Given the description of an element on the screen output the (x, y) to click on. 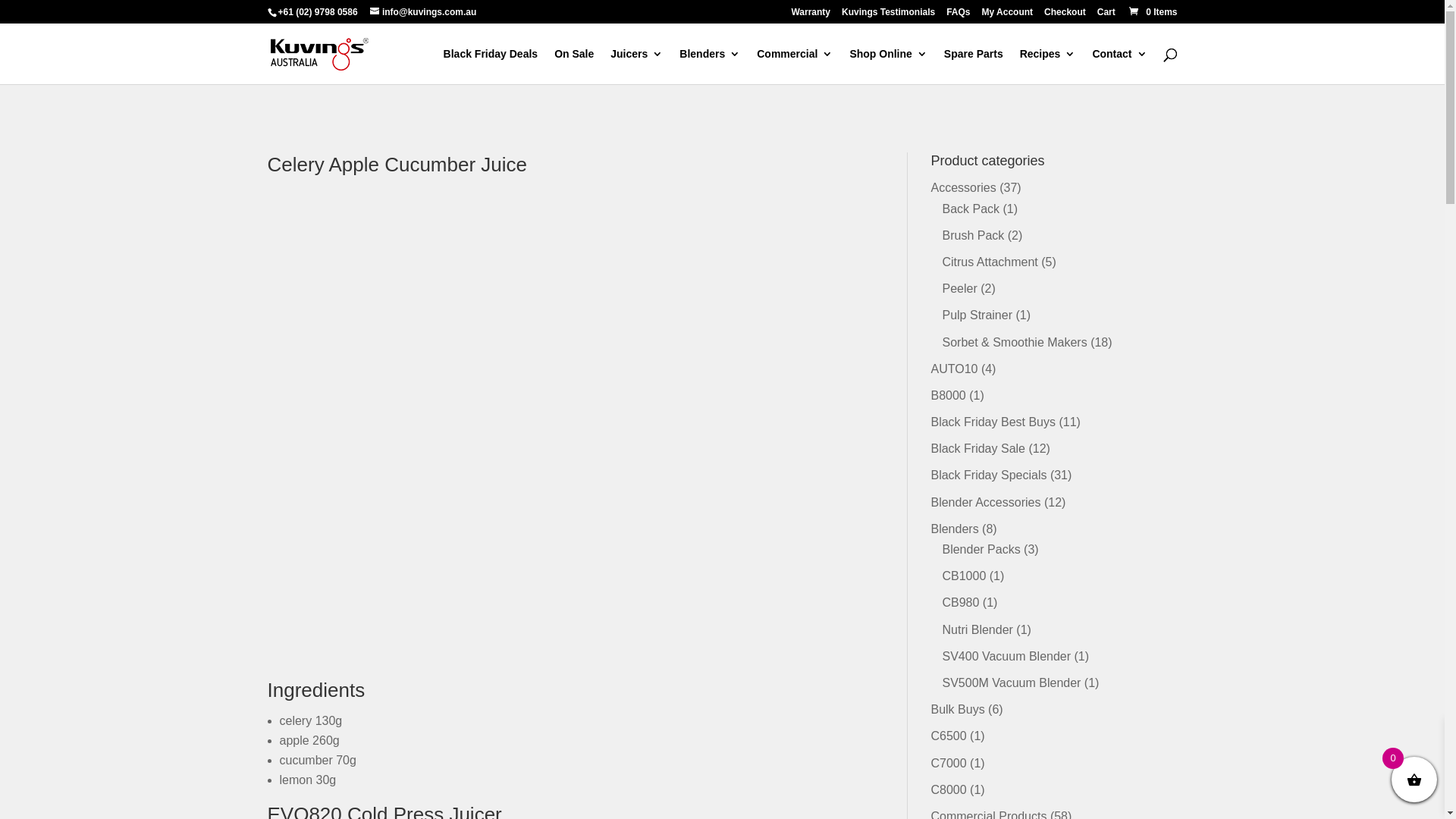
CB1000 Element type: text (963, 575)
Pulp Strainer Element type: text (976, 314)
Peeler Element type: text (958, 288)
Nutri Blender Element type: text (976, 629)
Kuvings Testimonials Element type: text (888, 15)
Cart Element type: text (1106, 15)
SV400 Vacuum Blender Element type: text (1005, 655)
C6500 Element type: text (948, 735)
B8000 Element type: text (947, 395)
Checkout Element type: text (1064, 15)
Citrus Attachment Element type: text (989, 261)
Blenders Element type: text (709, 66)
Contact Element type: text (1119, 66)
Black Friday Specials Element type: text (988, 474)
Black Friday Best Buys Element type: text (992, 421)
0 Items Element type: text (1151, 11)
Celery apple cucumber juice Element type: hover (561, 431)
Blenders Element type: text (954, 528)
FAQs Element type: text (957, 15)
CB980 Element type: text (960, 602)
Spare Parts Element type: text (973, 66)
C8000 Element type: text (948, 789)
Bulk Buys Element type: text (957, 708)
SV500M Vacuum Blender Element type: text (1010, 682)
Blender Accessories Element type: text (985, 501)
Shop Online Element type: text (887, 66)
Black Friday Deals Element type: text (490, 66)
Accessories Element type: text (962, 187)
Sorbet & Smoothie Makers Element type: text (1013, 341)
Back Pack Element type: text (970, 208)
Recipes Element type: text (1047, 66)
Brush Pack Element type: text (972, 235)
Warranty Element type: text (810, 15)
Juicers Element type: text (636, 66)
AUTO10 Element type: text (953, 368)
Blender Packs Element type: text (980, 548)
My Account Element type: text (1007, 15)
info@kuvings.com.au Element type: text (423, 11)
C7000 Element type: text (948, 762)
Commercial Element type: text (794, 66)
On Sale Element type: text (573, 66)
Black Friday Sale Element type: text (977, 448)
